Given the description of an element on the screen output the (x, y) to click on. 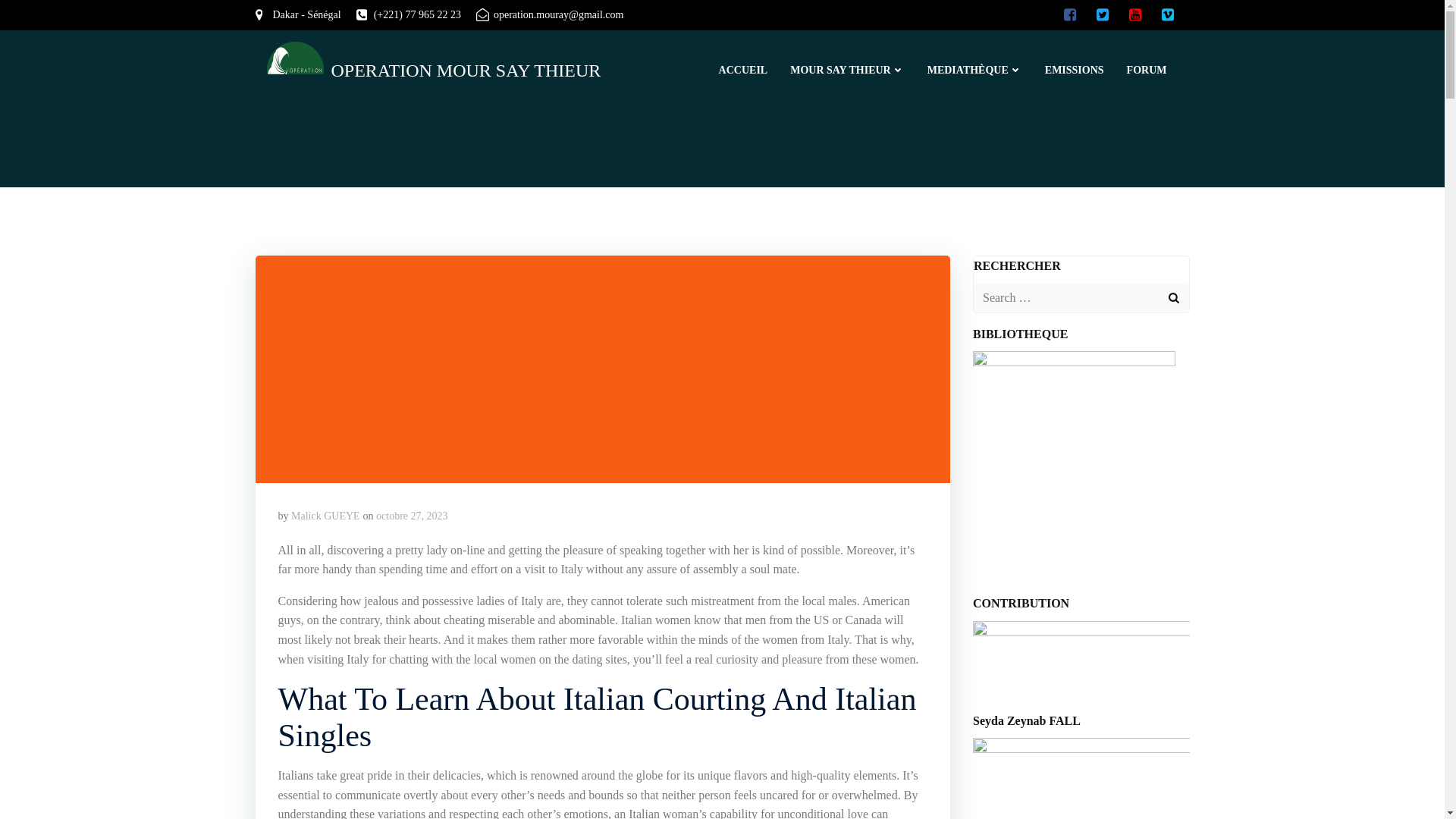
MOUR SAY THIEUR (847, 69)
Search  (29, 14)
FORUM (1146, 69)
OPERATION MOUR SAY THIEUR (433, 69)
Malick GUEYE (325, 515)
ACCUEIL (743, 69)
octobre 27, 2023 (410, 515)
EMISSIONS (1074, 69)
